Given the description of an element on the screen output the (x, y) to click on. 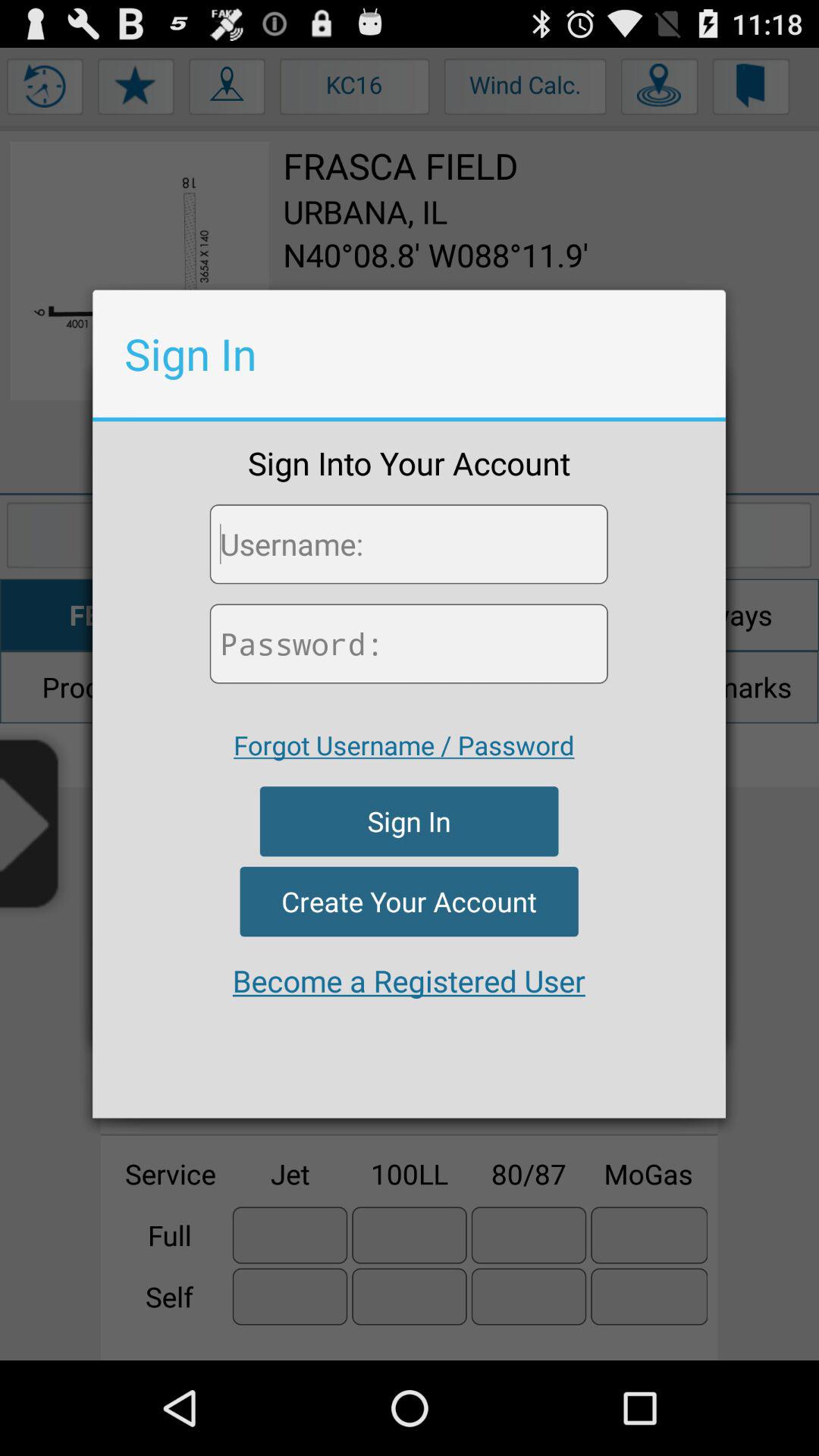
type username (408, 544)
